Given the description of an element on the screen output the (x, y) to click on. 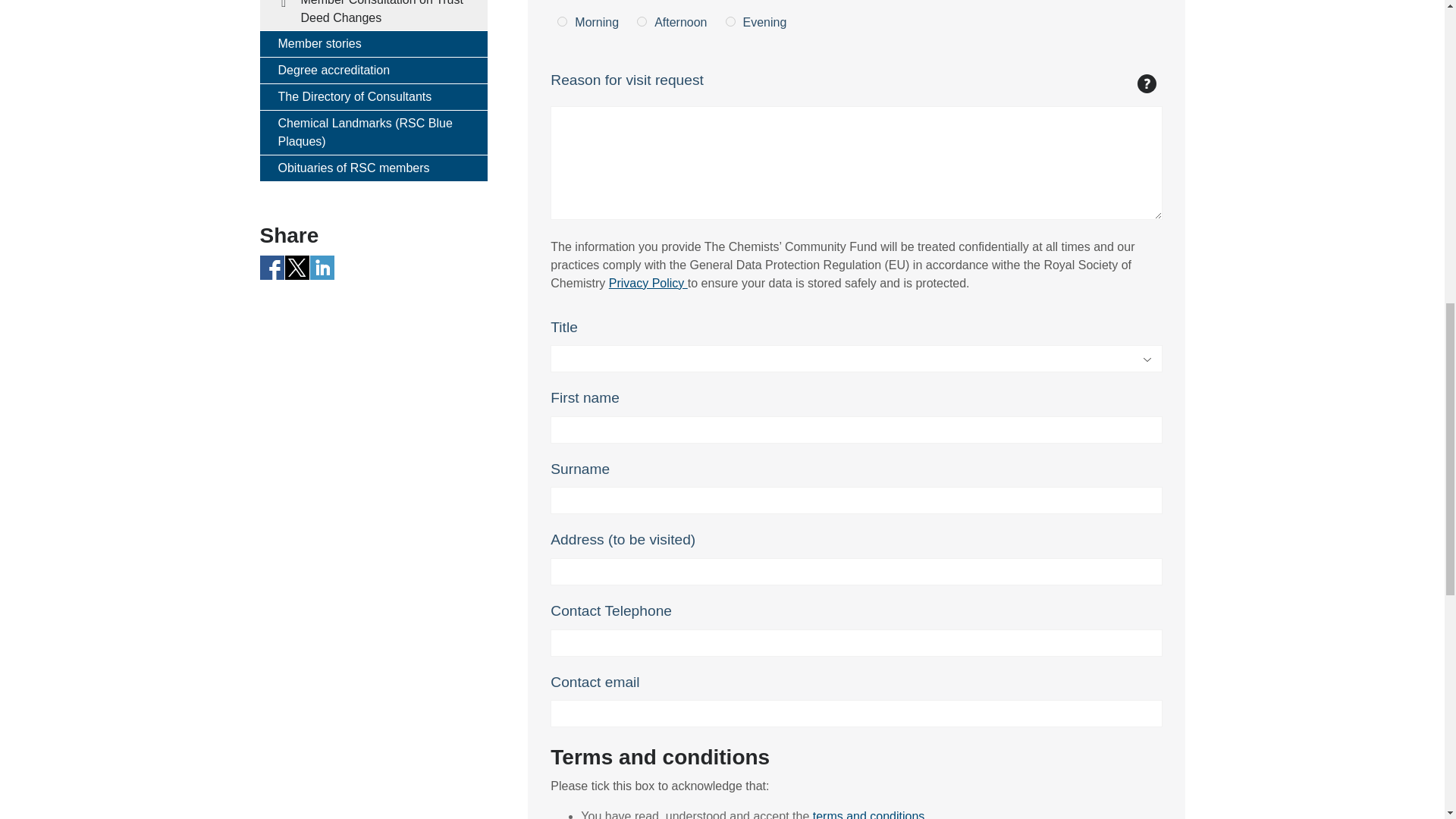
Evening (730, 21)
Privacy Policy  (647, 282)
Morning (562, 21)
Afternoon (641, 21)
